Given the description of an element on the screen output the (x, y) to click on. 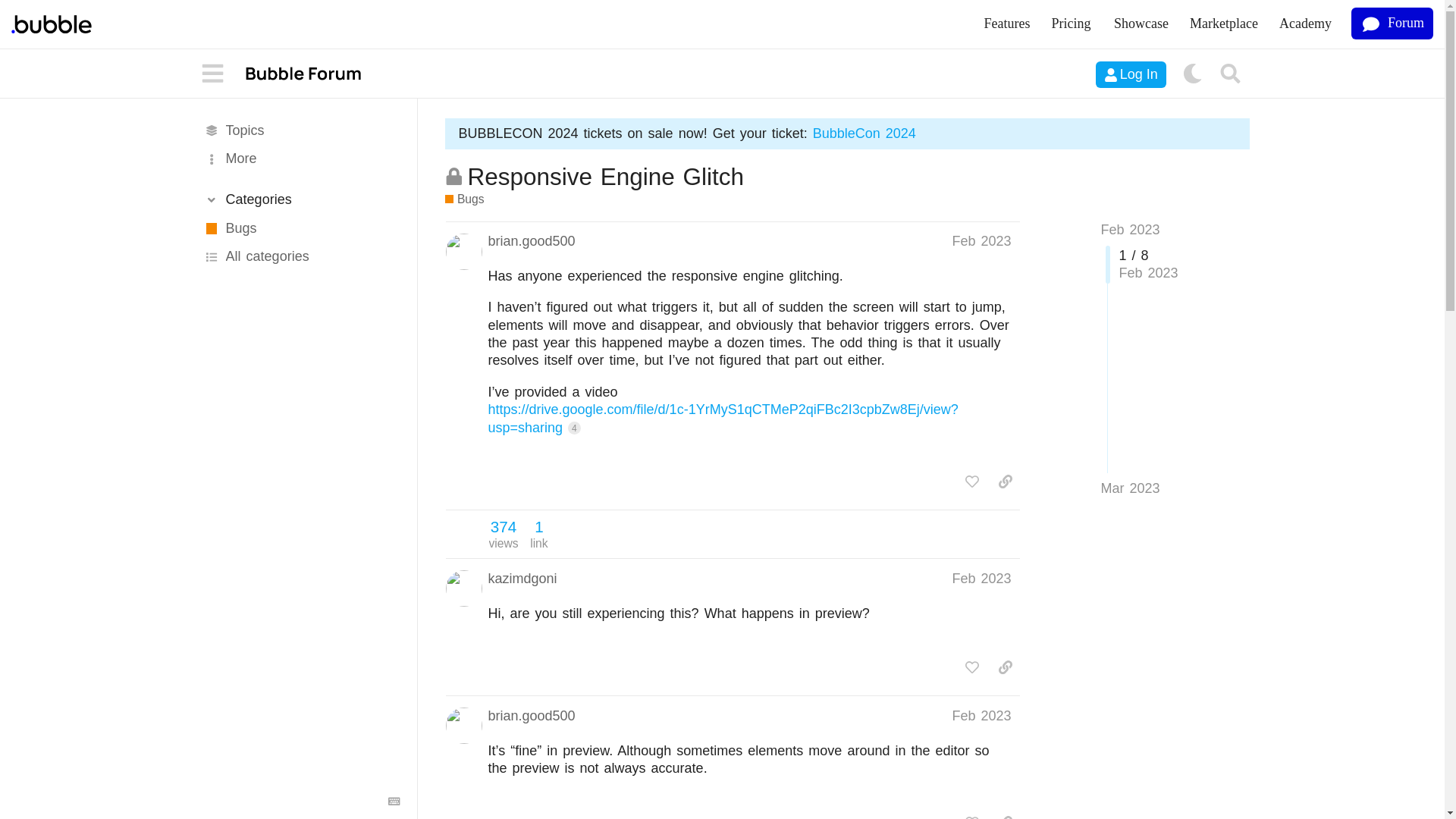
Search (1230, 73)
Toggle color scheme (1192, 73)
Toggle section (300, 199)
Post date (981, 578)
Features (1007, 24)
More (300, 158)
Mar 2023 (1129, 488)
BubbleCon 2024 (863, 133)
Jump to the last post (1129, 488)
4 clicks (573, 427)
